Given the description of an element on the screen output the (x, y) to click on. 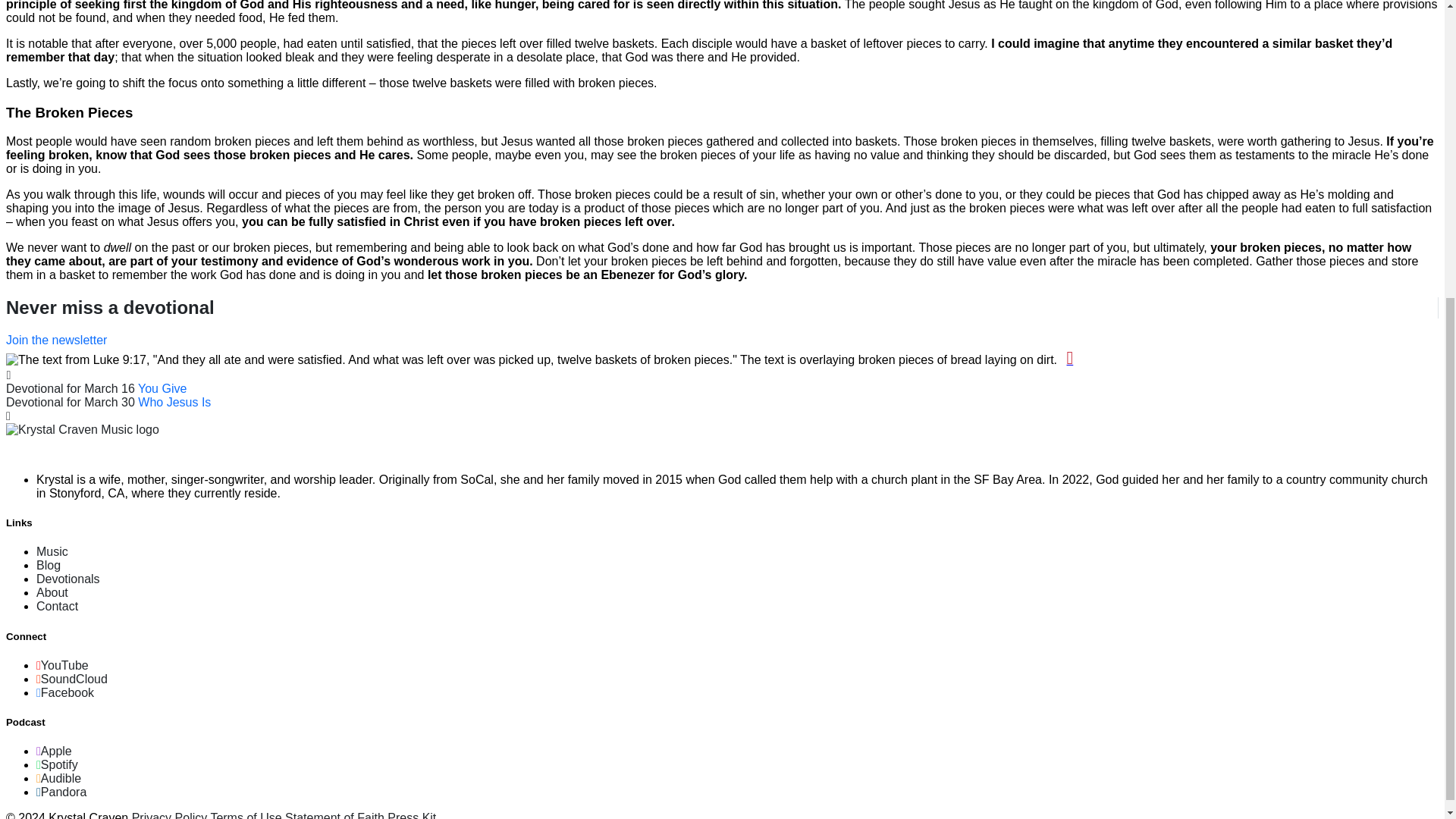
Facebook (65, 692)
Pandora (60, 791)
Music (52, 551)
YouTube (62, 665)
Contact (57, 605)
Apple (53, 750)
Blog (48, 564)
Audible (58, 778)
About (52, 592)
Pin to Pinterest (1068, 359)
SoundCloud (71, 678)
Spotify (57, 764)
Devotionals (68, 578)
